Given the description of an element on the screen output the (x, y) to click on. 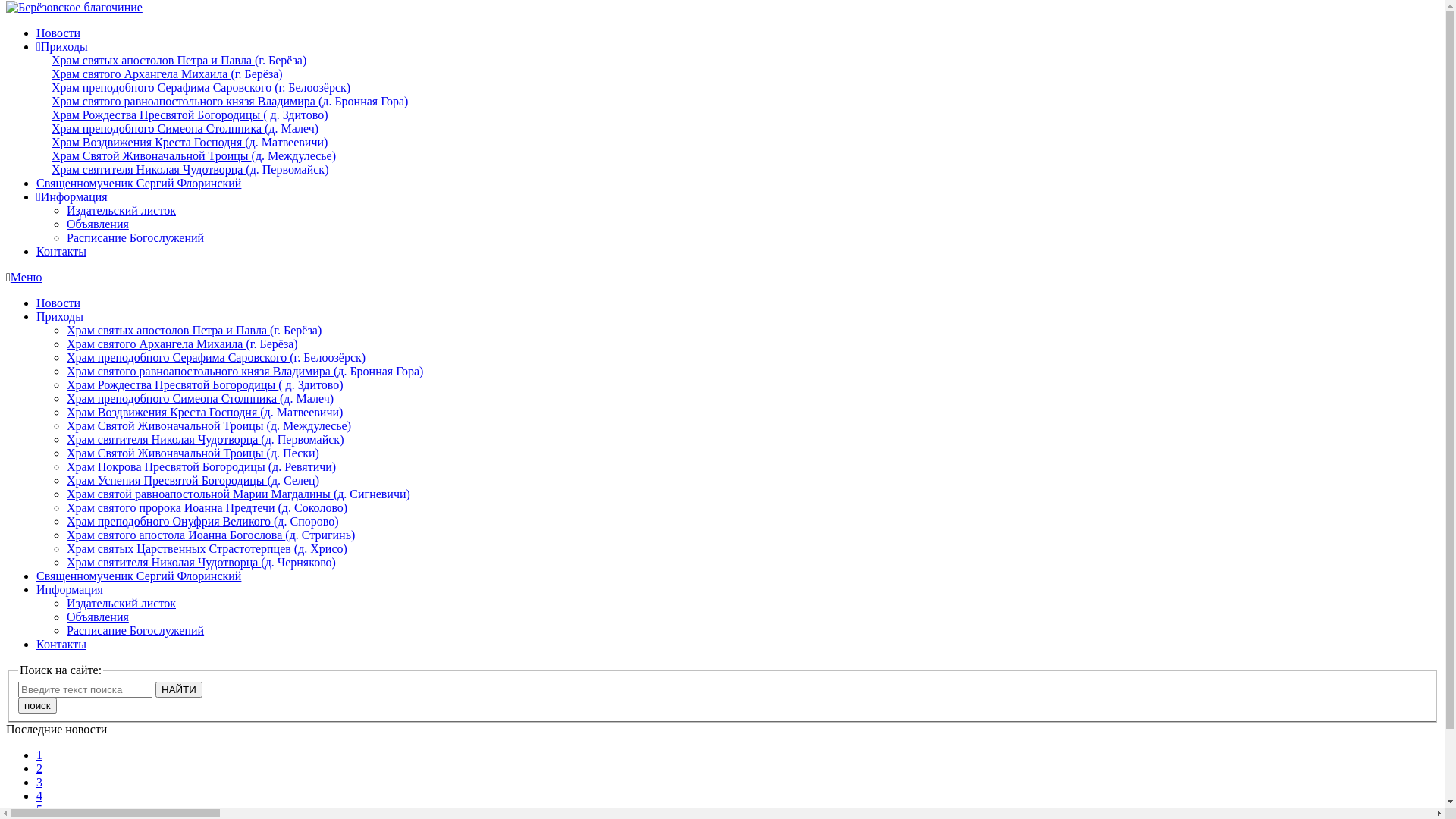
3 Element type: text (39, 781)
2 Element type: text (39, 768)
5 Element type: text (39, 809)
1 Element type: text (39, 754)
4 Element type: text (39, 795)
